Given the description of an element on the screen output the (x, y) to click on. 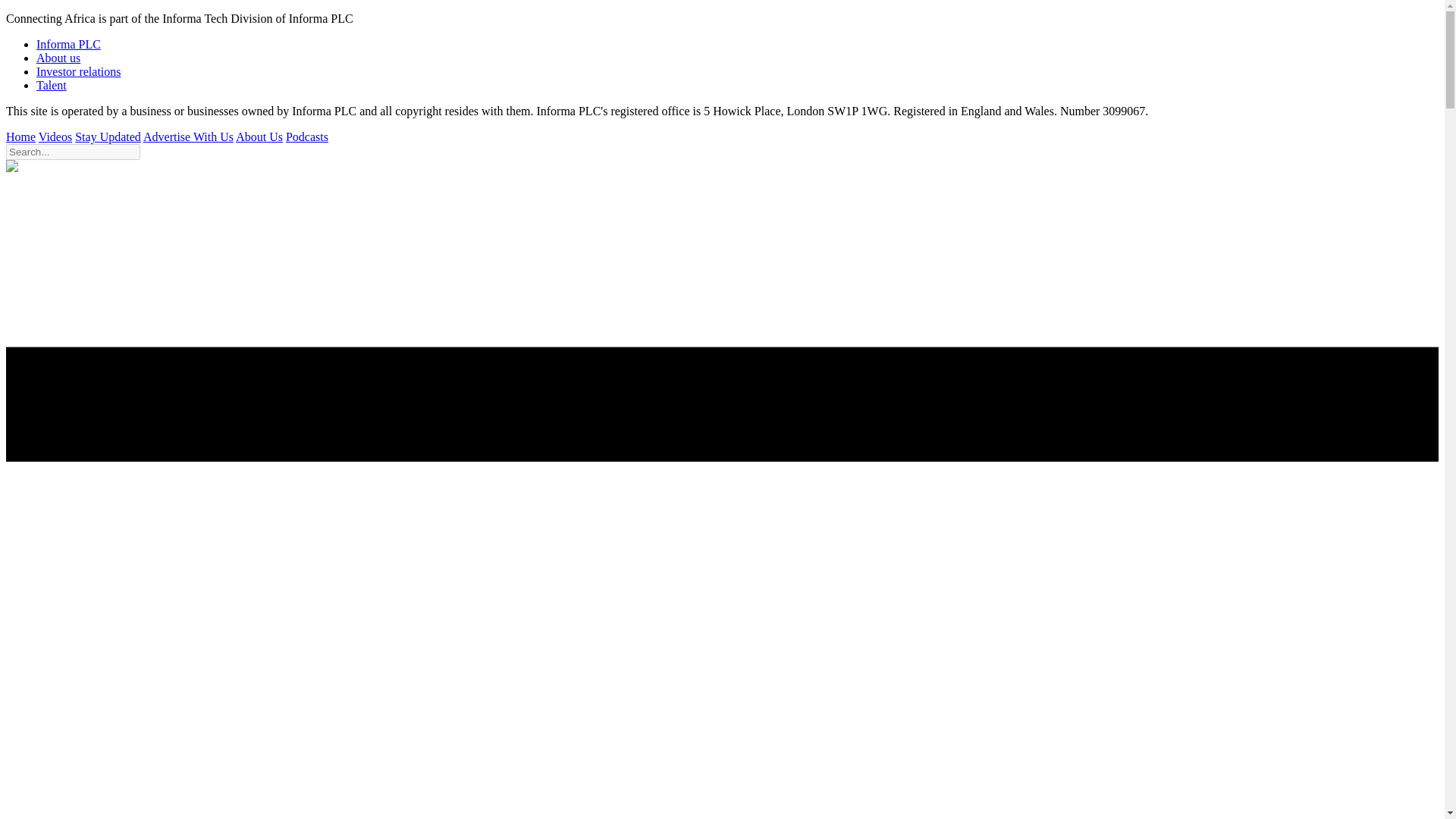
About us (58, 57)
Home (19, 136)
Go to Informa website (68, 43)
Talent (51, 84)
Videos (55, 136)
Stay Updated (108, 136)
Investor relations (78, 71)
Podcasts (307, 136)
Learn more about Informa's Investor relations (78, 71)
Informa PLC (68, 43)
About Us (258, 136)
Learn more about Informa (58, 57)
Advertise With Us (187, 136)
Careers at Informa (51, 84)
